Given the description of an element on the screen output the (x, y) to click on. 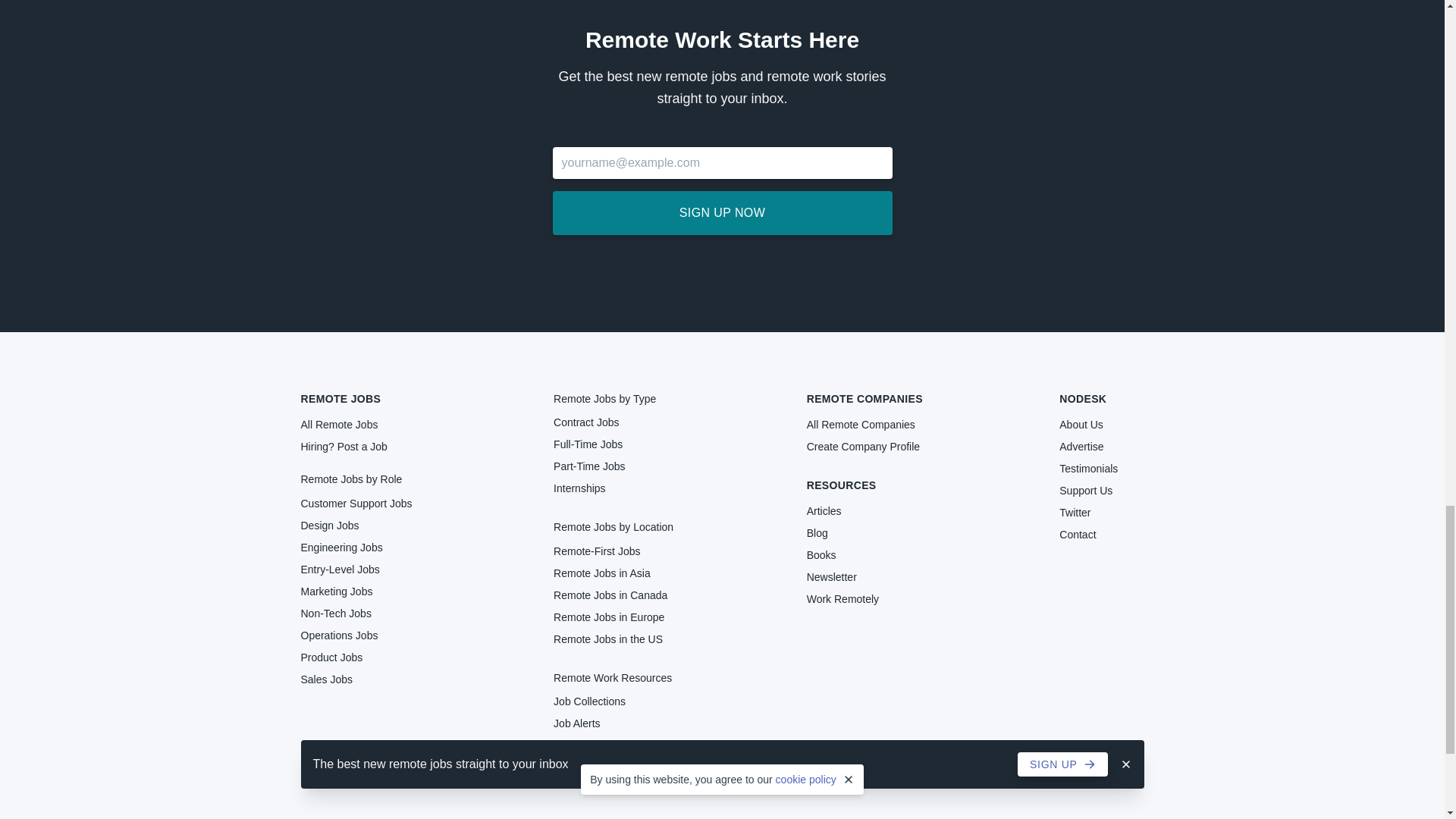
Your email address (721, 163)
